Given the description of an element on the screen output the (x, y) to click on. 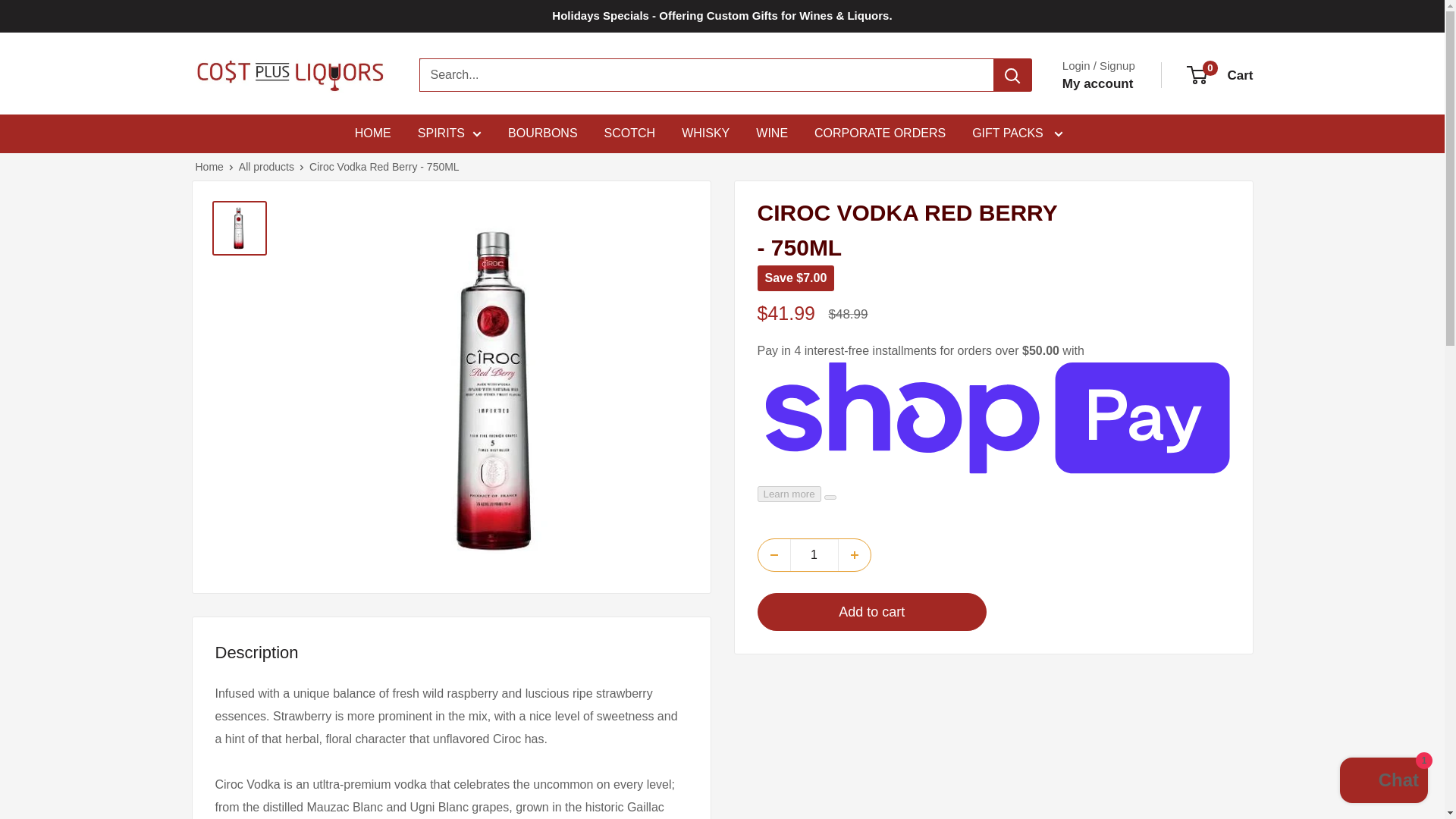
HOME (373, 133)
SPIRITS (449, 133)
My account (1098, 84)
1 (814, 554)
Decrease quantity by 1 (774, 554)
Shopify online store chat (1383, 781)
Cost Plus Liquors (1220, 75)
Increase quantity by 1 (289, 75)
